Given the description of an element on the screen output the (x, y) to click on. 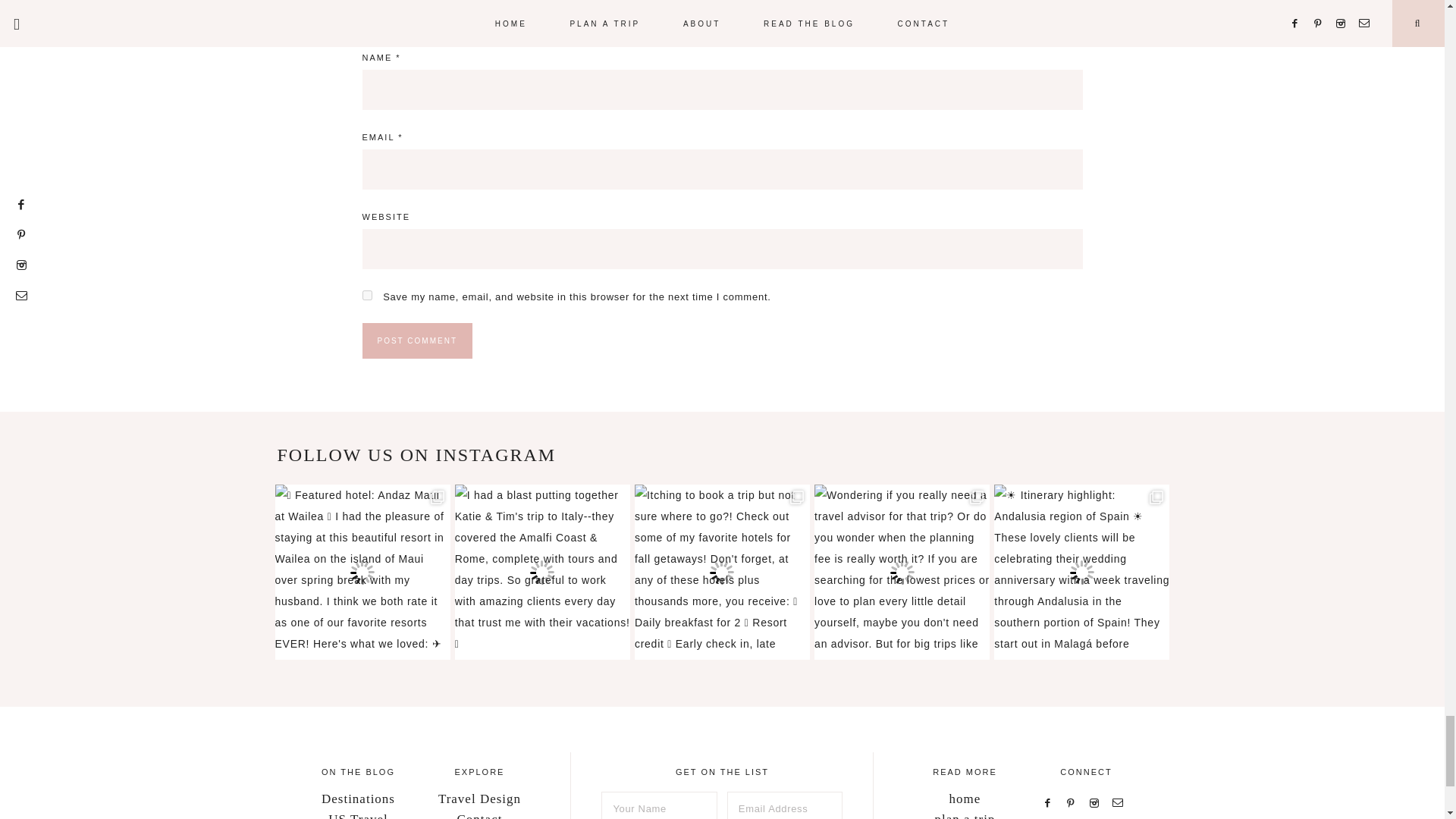
Post Comment (416, 340)
yes (367, 295)
